Given the description of an element on the screen output the (x, y) to click on. 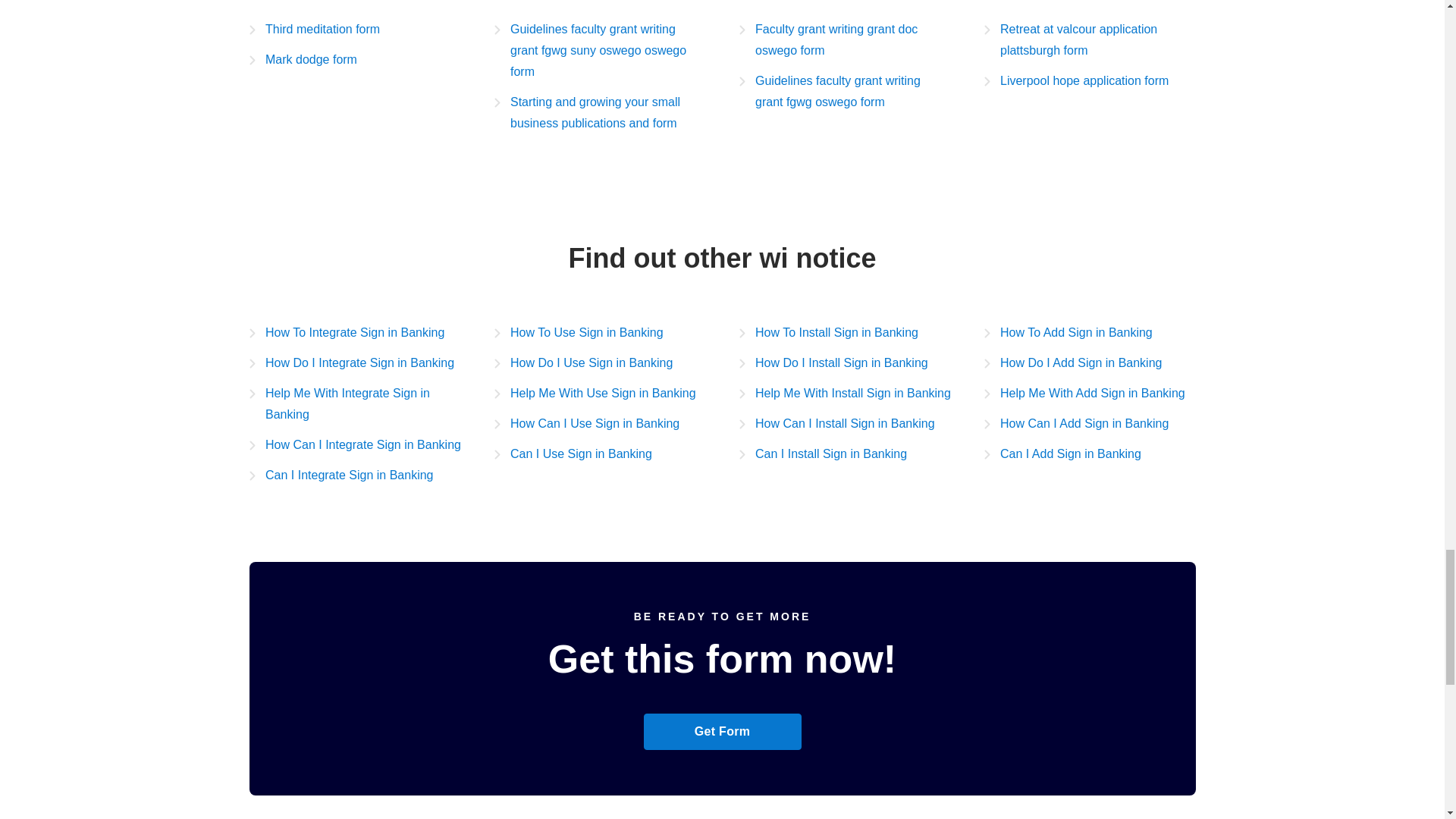
How Do I Use Sign in Banking (583, 362)
How Can I Use Sign in Banking (587, 423)
Help Me With Add Sign in Banking (1084, 393)
How Can I Integrate Sign in Banking (354, 444)
How To Install Sign in Banking (827, 332)
Can I Integrate Sign in Banking (340, 475)
How Do I Add Sign in Banking (1072, 362)
How Do I Integrate Sign in Banking (350, 362)
Can I Install Sign in Banking (821, 454)
How To Add Sign in Banking (1068, 332)
